Given the description of an element on the screen output the (x, y) to click on. 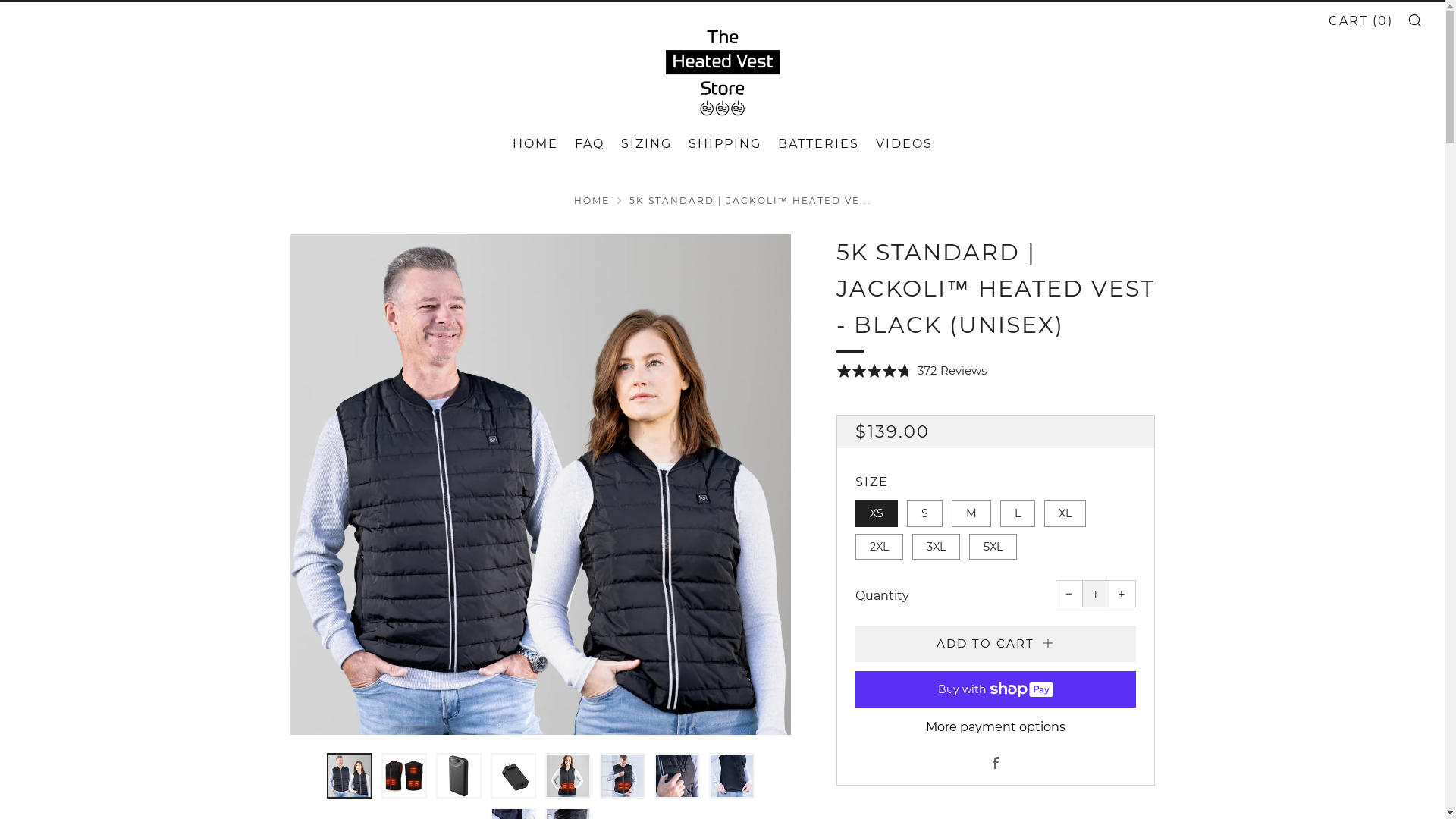
BATTERIES Element type: text (818, 143)
SEARCH Element type: text (1414, 19)
ADD TO CART Element type: text (995, 643)
SIZING Element type: text (645, 143)
HOME Element type: text (590, 200)
FAQ Element type: text (589, 143)
SHIPPING Element type: text (724, 143)
HOME Element type: text (535, 143)
More payment options Element type: text (995, 726)
CART (0) Element type: text (1360, 21)
+
Increase item quantity by one Element type: text (1121, 593)
Facebook Element type: text (994, 763)
VIDEOS Element type: text (903, 143)
